Given the description of an element on the screen output the (x, y) to click on. 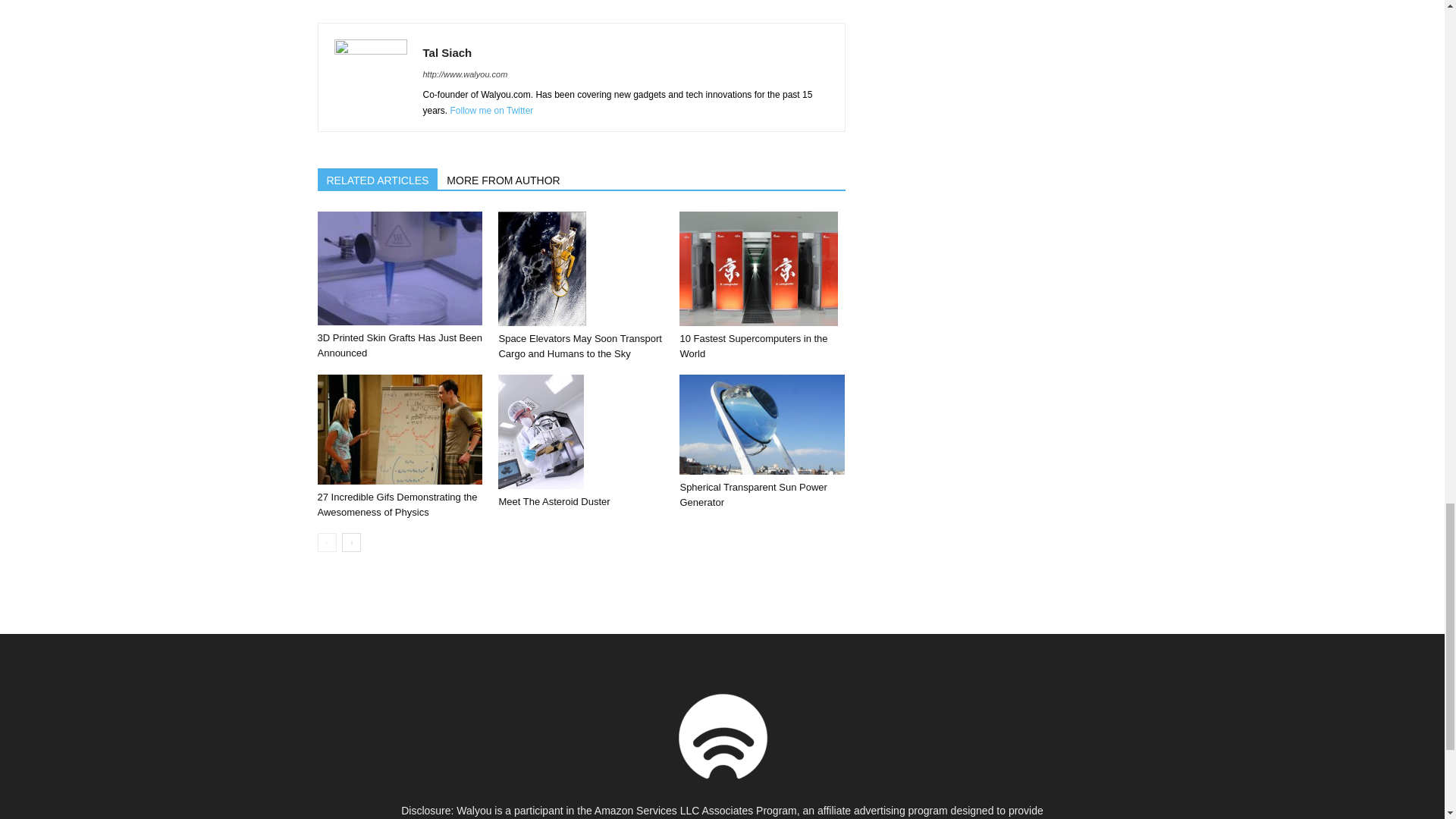
3D Printed Skin Grafts Has Just Been Announced (399, 268)
